Given the description of an element on the screen output the (x, y) to click on. 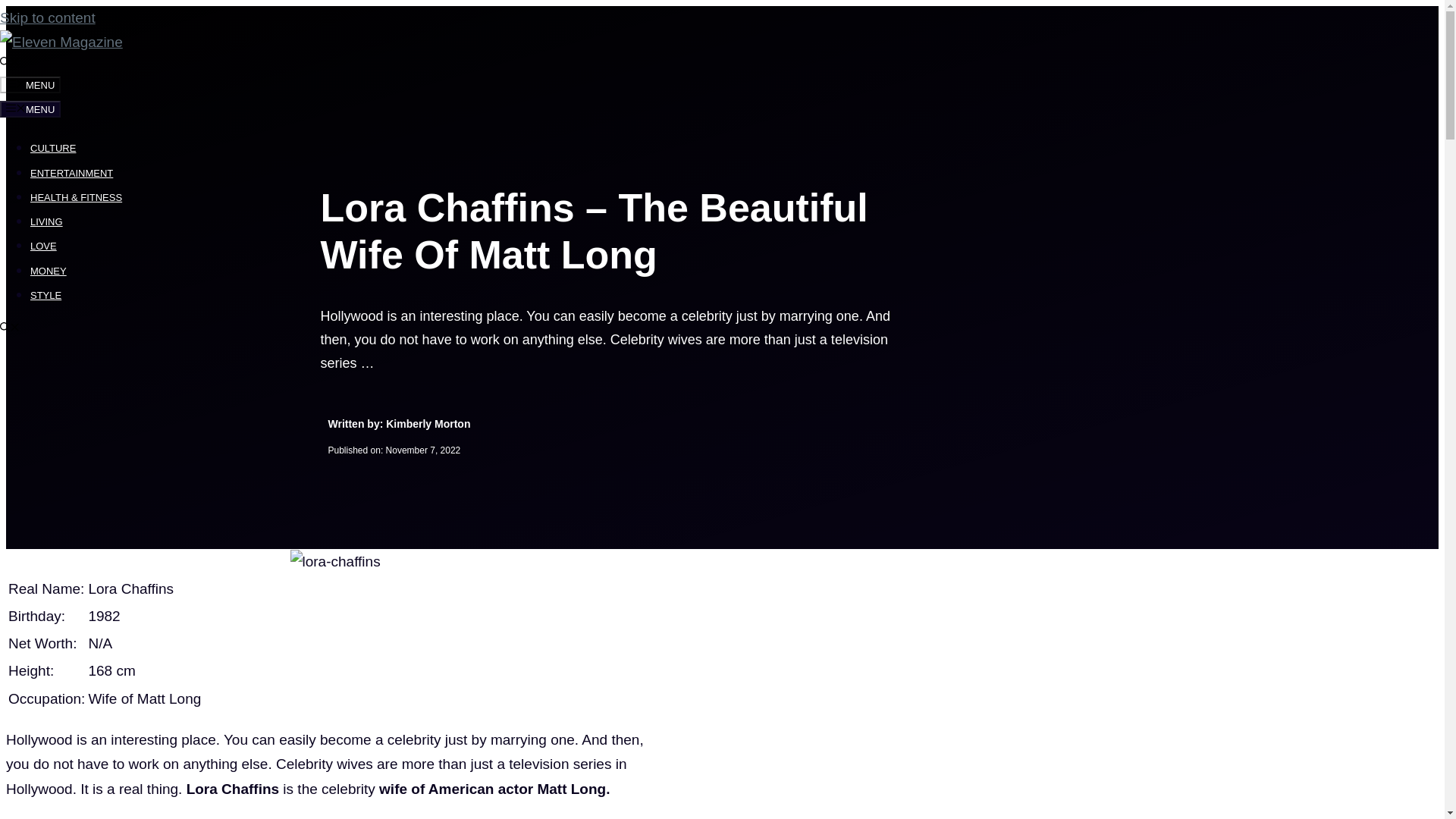
Skip to content (48, 17)
MONEY (48, 270)
LIVING (46, 221)
ENTERTAINMENT (71, 173)
STYLE (45, 295)
MENU (30, 84)
LOVE (43, 245)
CULTURE (52, 147)
MENU (30, 108)
Skip to content (48, 17)
